Given the description of an element on the screen output the (x, y) to click on. 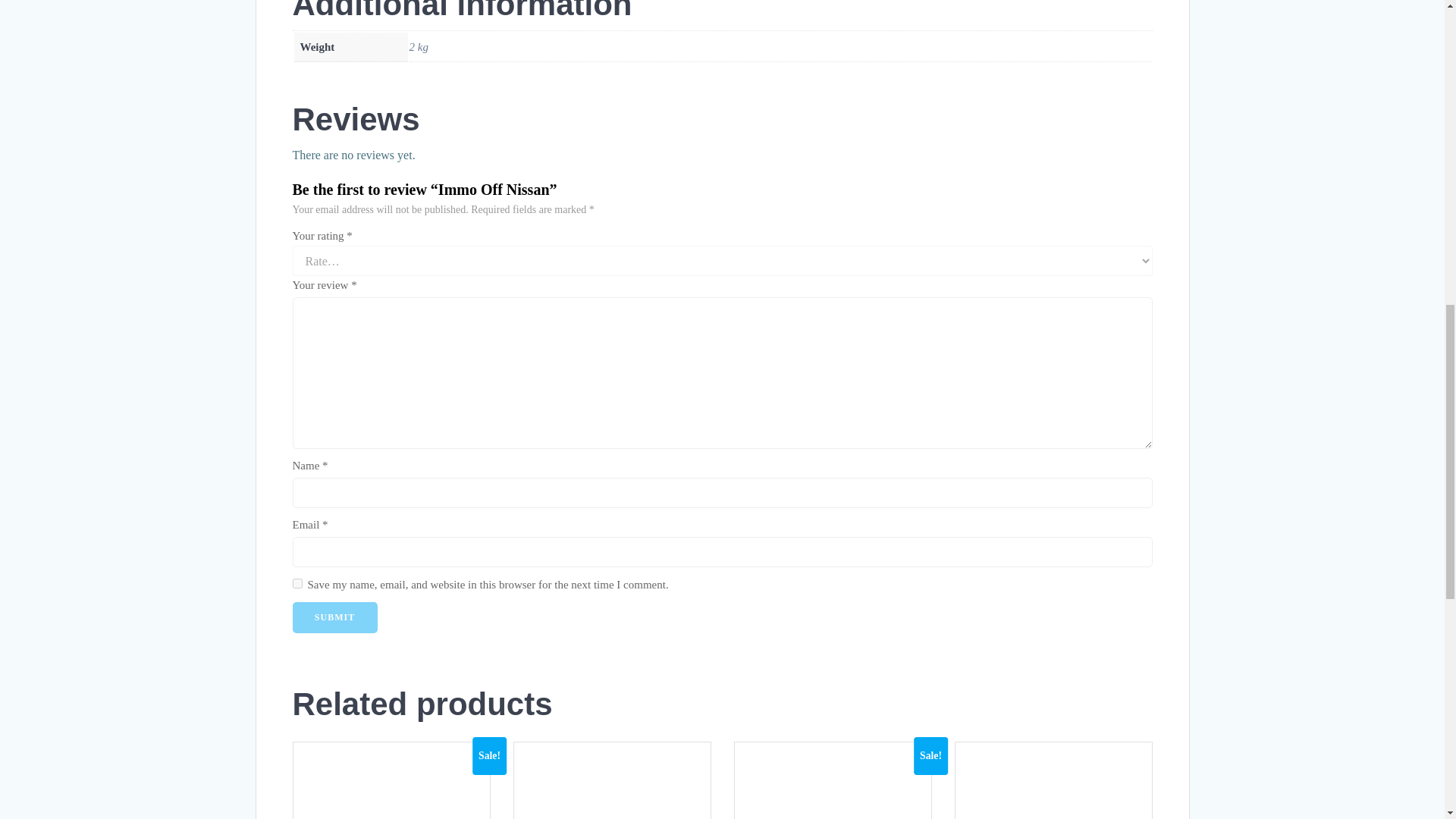
Submit (334, 617)
yes (297, 583)
